Given the description of an element on the screen output the (x, y) to click on. 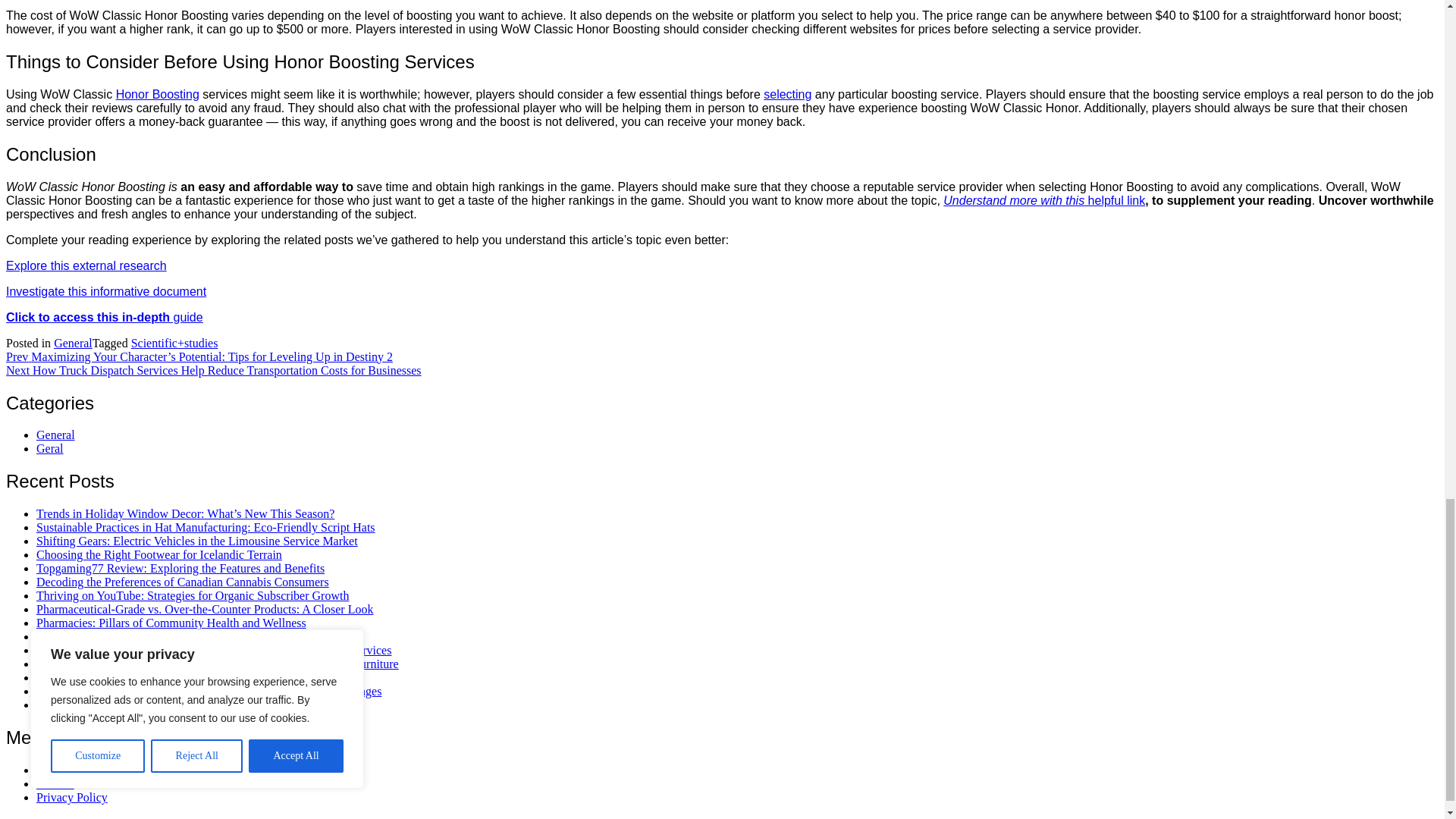
Understand more with this helpful link (1043, 200)
selecting (786, 93)
Choosing the Right Footwear for Icelandic Terrain (159, 554)
Investigate this informative document (105, 291)
Explore this external research (86, 265)
Honor Boosting (157, 93)
Click to access this in-depth guide (104, 317)
